Given the description of an element on the screen output the (x, y) to click on. 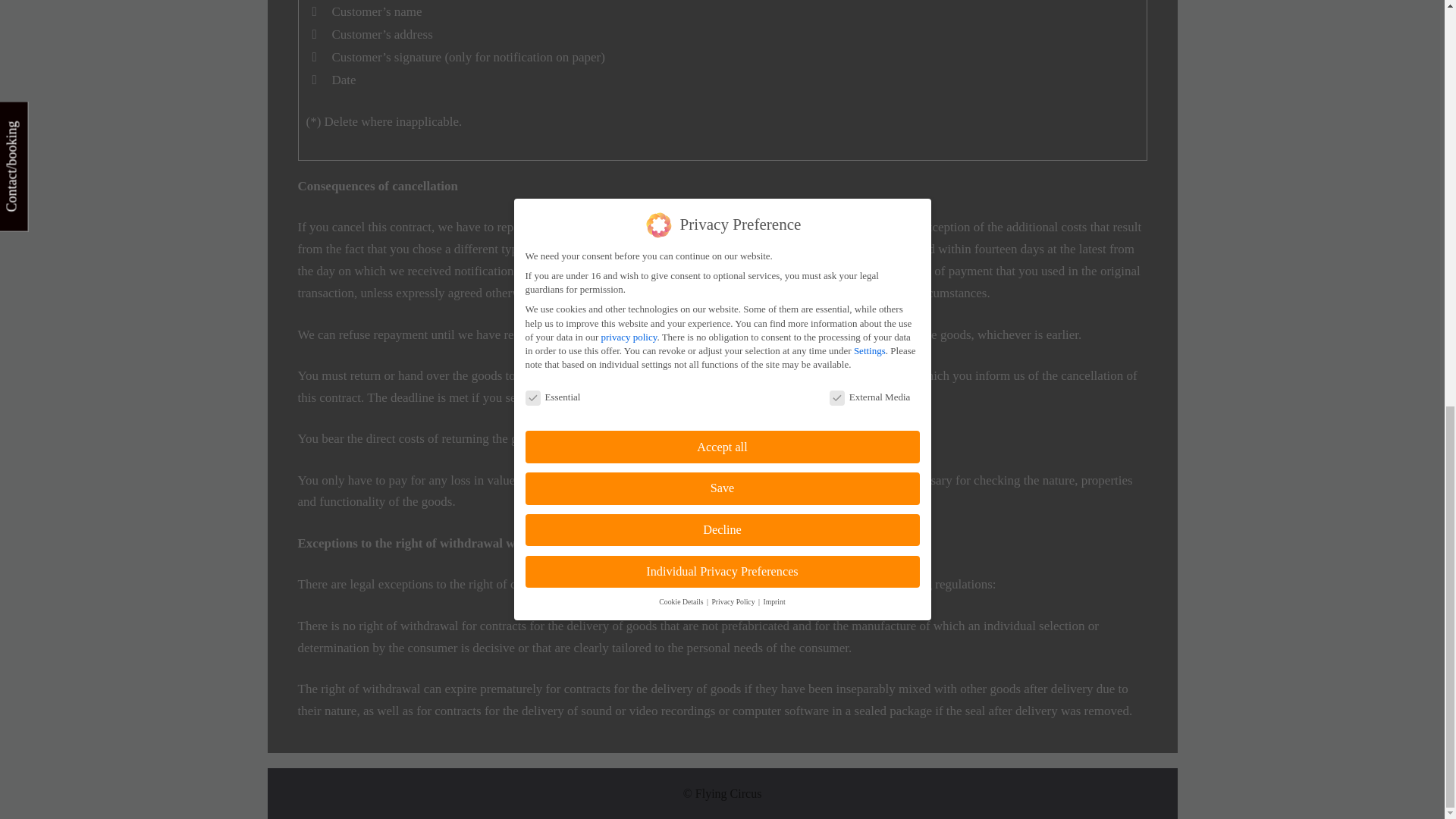
Scroll back to top (1406, 733)
